Given the description of an element on the screen output the (x, y) to click on. 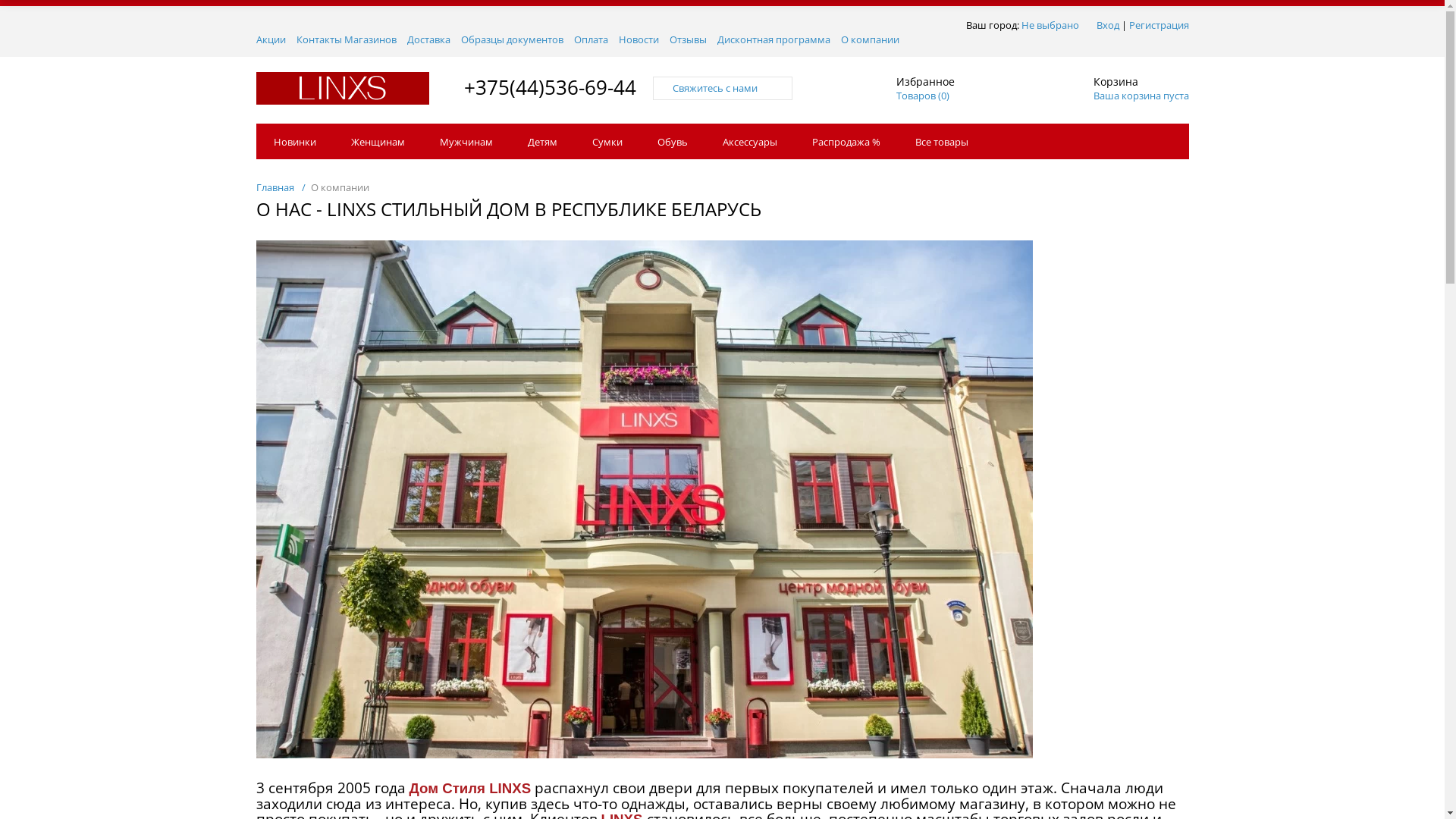
+375(44)536-69-44 Element type: text (550, 86)
linxs.by_fasad.jpg Element type: hover (644, 499)
